Given the description of an element on the screen output the (x, y) to click on. 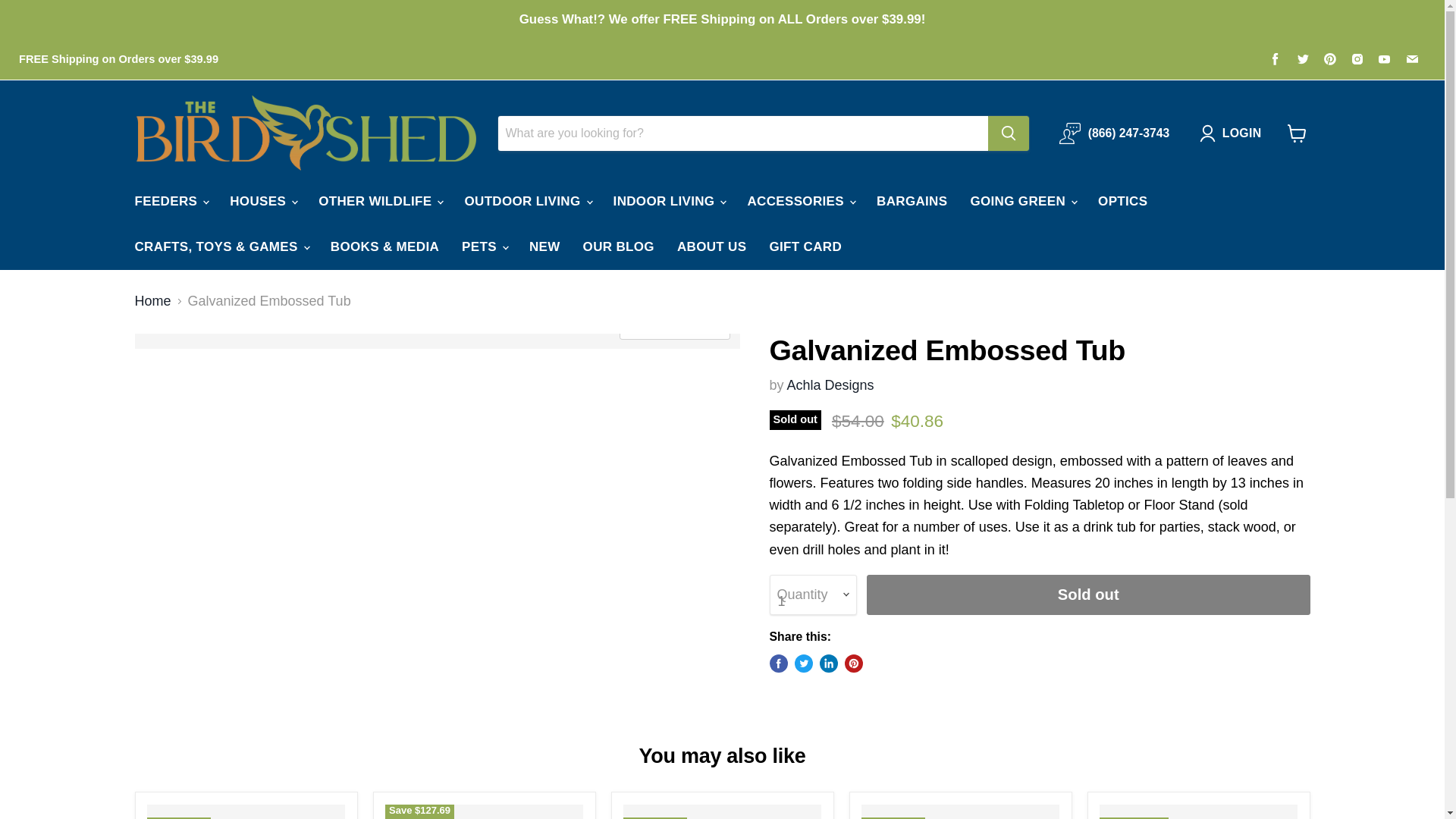
Find us on Instagram (1357, 58)
Youtube (1384, 58)
Instagram (1357, 58)
Find us on Email (1411, 58)
Twitter (1302, 58)
Find us on Twitter (1302, 58)
Achla Designs (831, 385)
Find us on Facebook (1275, 58)
Find us on Youtube (1384, 58)
Facebook (1275, 58)
